Given the description of an element on the screen output the (x, y) to click on. 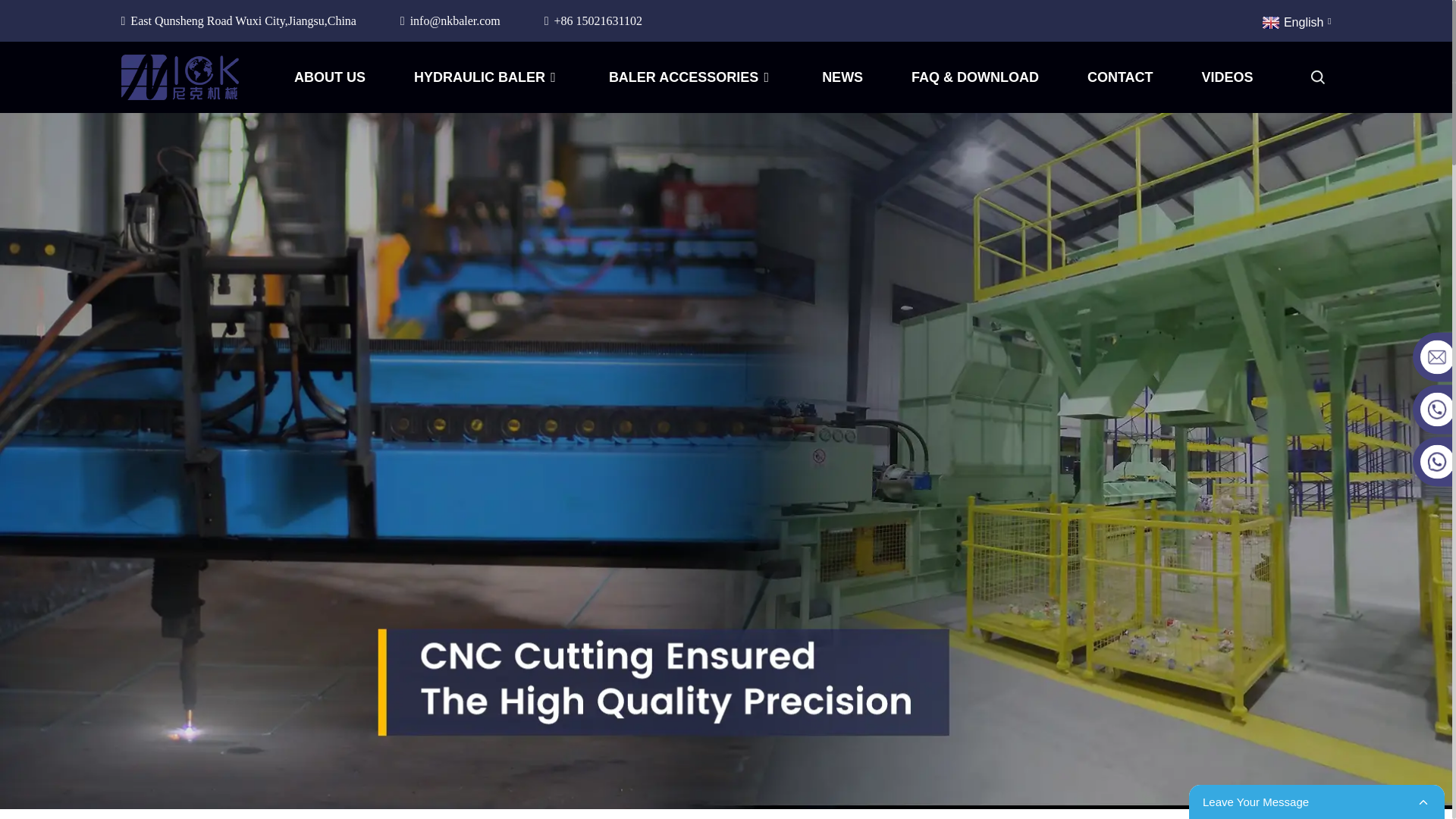
Block Making Machine (486, 76)
English (1295, 20)
BALER ACCESSORIES (690, 76)
ABOUT US (329, 76)
VIDEOS (1226, 76)
NEWS (842, 76)
HYDRAULIC BALER (486, 76)
CONTACT (1120, 76)
